Given the description of an element on the screen output the (x, y) to click on. 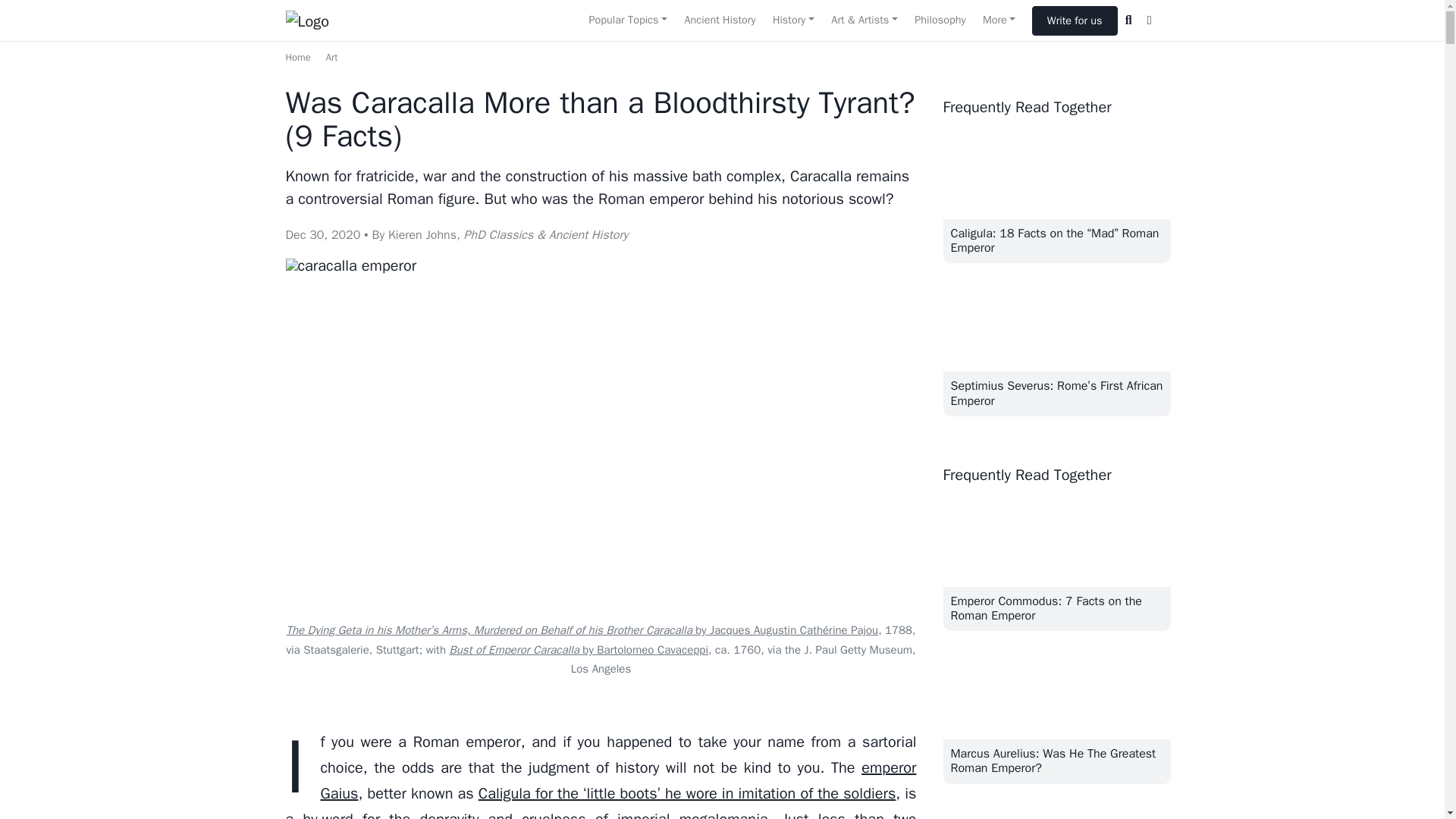
History (793, 20)
More (999, 20)
Ancient History (718, 20)
Philosophy (939, 20)
Popular Topics (627, 20)
Write for us (1075, 20)
